Given the description of an element on the screen output the (x, y) to click on. 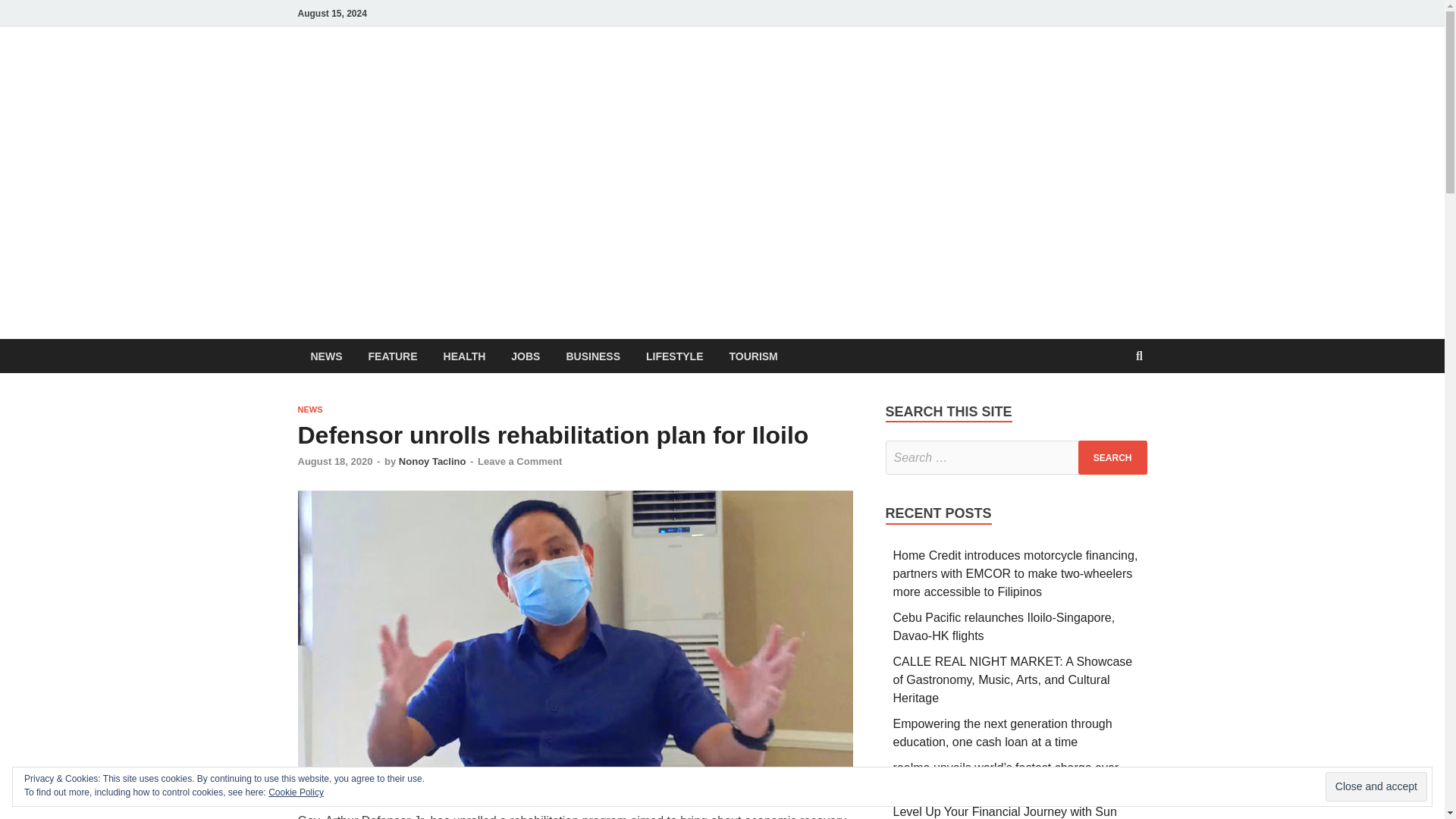
Iloilo Today (647, 78)
Close and accept (1375, 786)
Search (1112, 457)
FEATURE (392, 356)
LIFESTYLE (674, 356)
Search (1112, 457)
TOURISM (753, 356)
Nonoy Taclino (431, 460)
August 18, 2020 (334, 460)
